Given the description of an element on the screen output the (x, y) to click on. 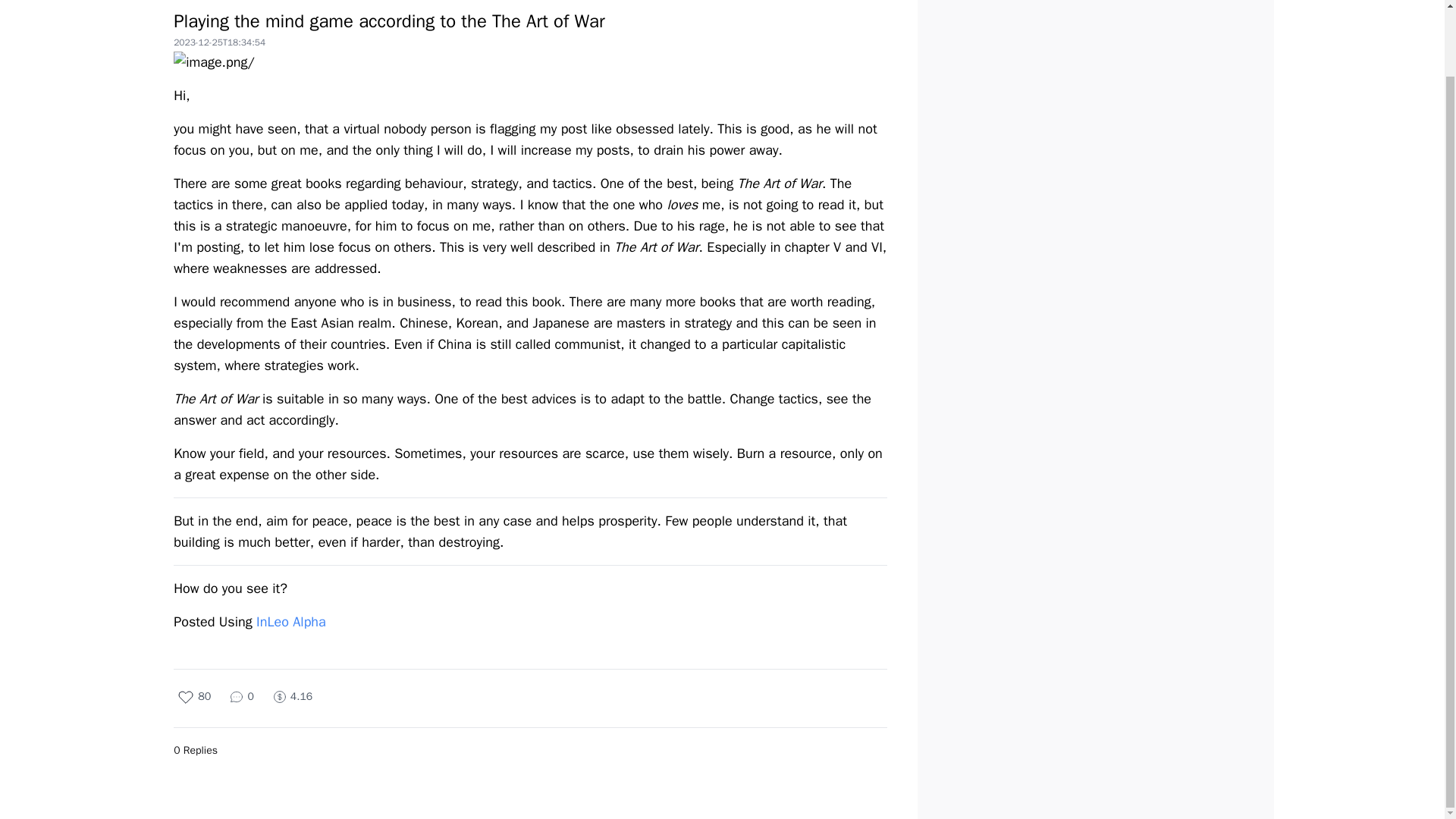
InLeo Alpha (291, 621)
